Given the description of an element on the screen output the (x, y) to click on. 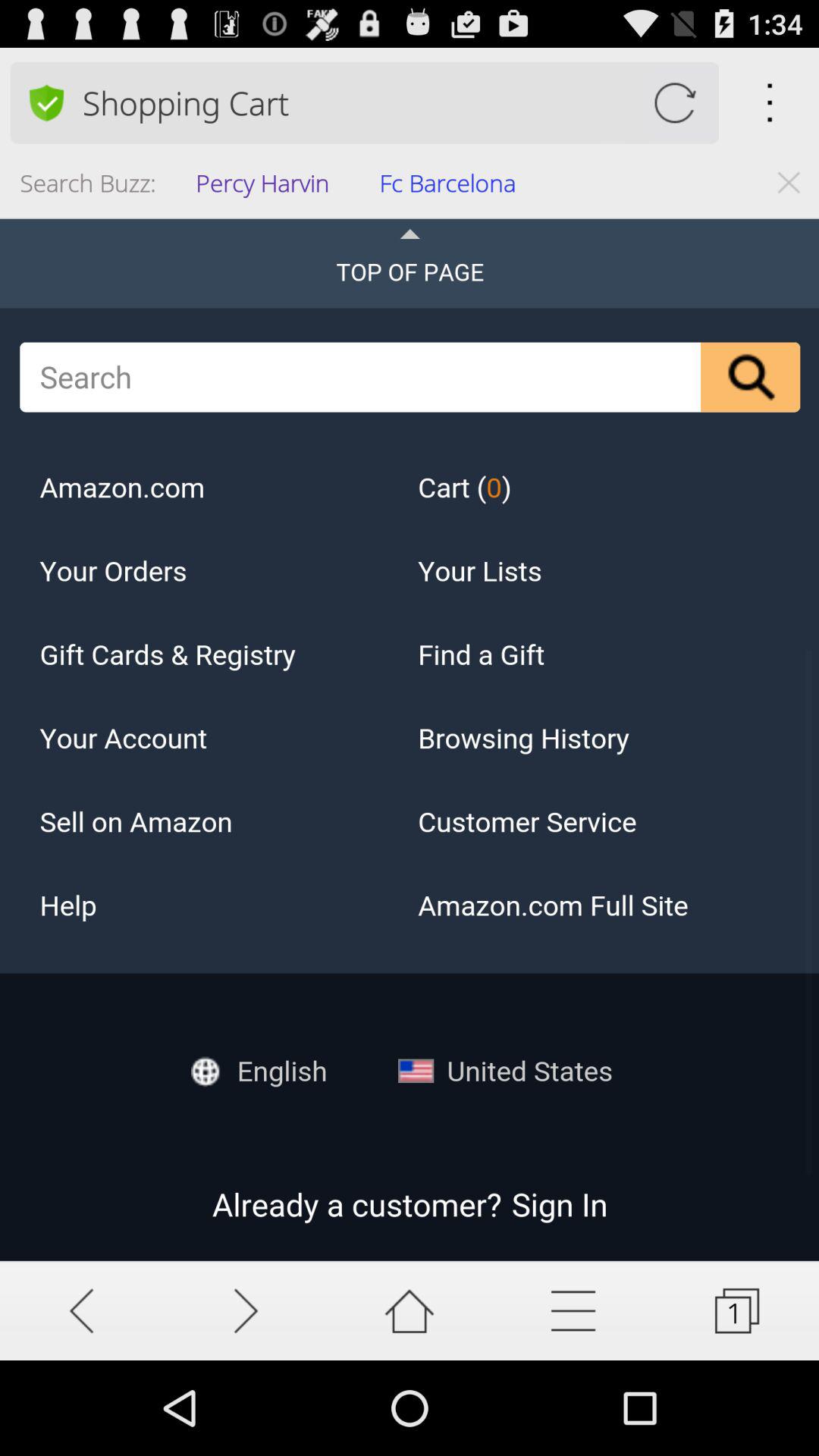
turn on the icon next to fc barcelona (267, 187)
